Given the description of an element on the screen output the (x, y) to click on. 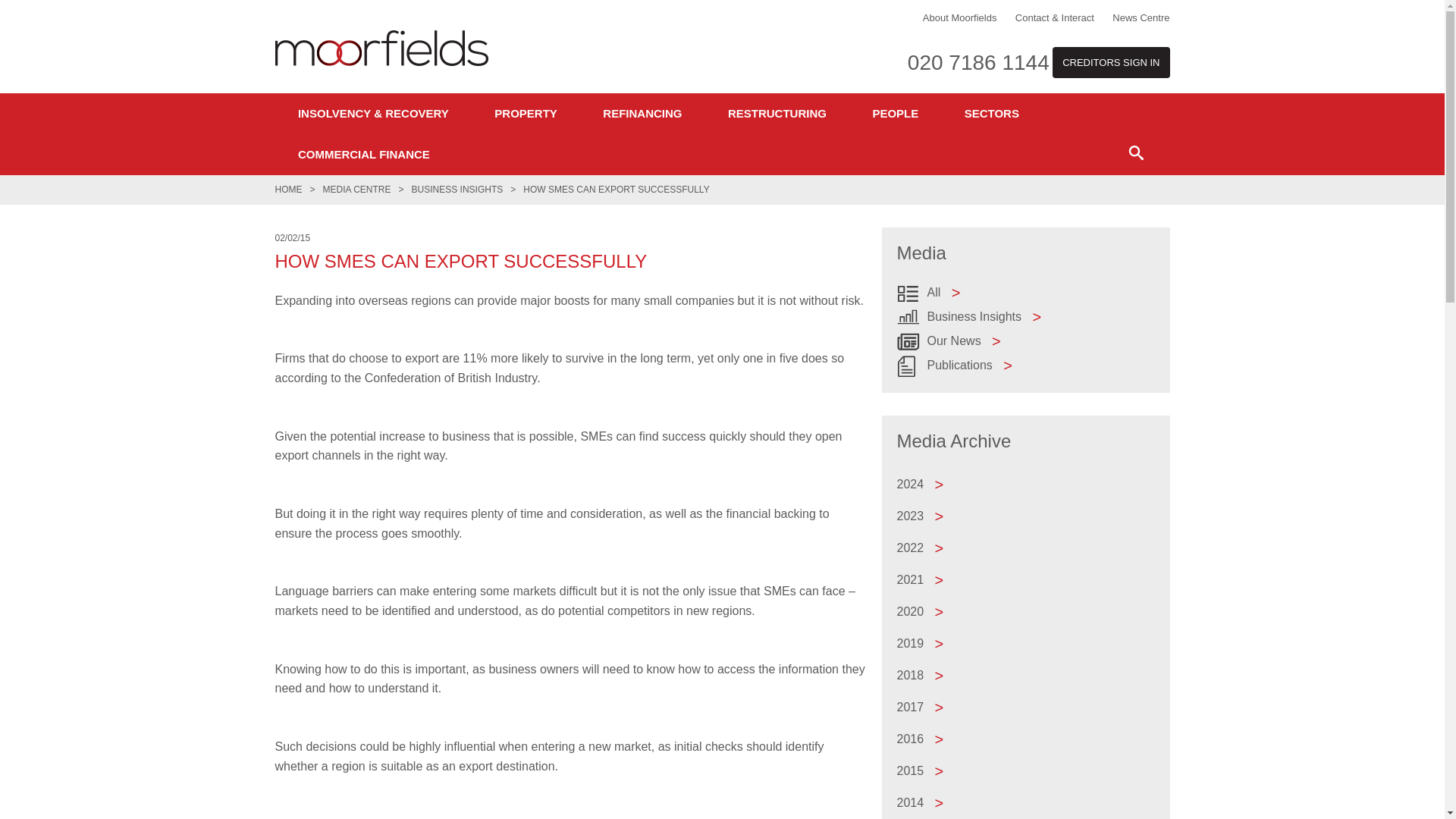
REFINANCING (642, 113)
SECTORS (991, 113)
CREDITORS SIGN IN (1110, 62)
News Centre (1140, 17)
PEOPLE (895, 113)
PROPERTY (525, 113)
About Moorfields (960, 17)
RESTRUCTURING (777, 113)
